Given the description of an element on the screen output the (x, y) to click on. 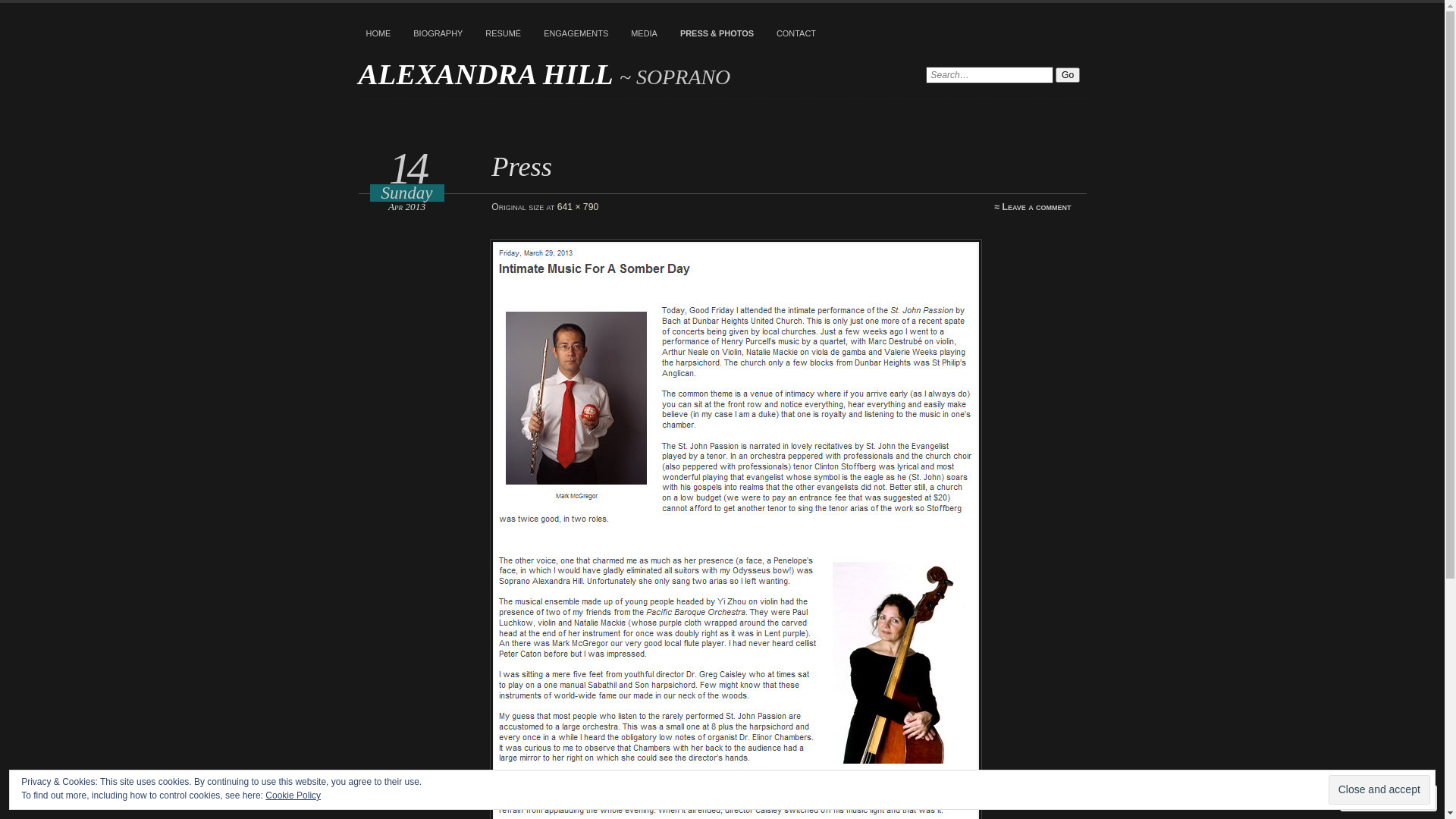
Leave a comment Element type: text (1036, 206)
CONTACT Element type: text (795, 33)
ENGAGEMENTS Element type: text (575, 33)
Press Element type: text (521, 166)
BIOGRAPHY Element type: text (437, 33)
HOME Element type: text (377, 33)
PRESS & PHOTOS Element type: text (716, 33)
MEDIA Element type: text (644, 33)
Cookie Policy Element type: text (292, 795)
Close and accept Element type: text (1379, 789)
ALEXANDRA HILL Element type: text (487, 73)
Follow Element type: text (1374, 797)
Go Element type: text (1067, 74)
